Given the description of an element on the screen output the (x, y) to click on. 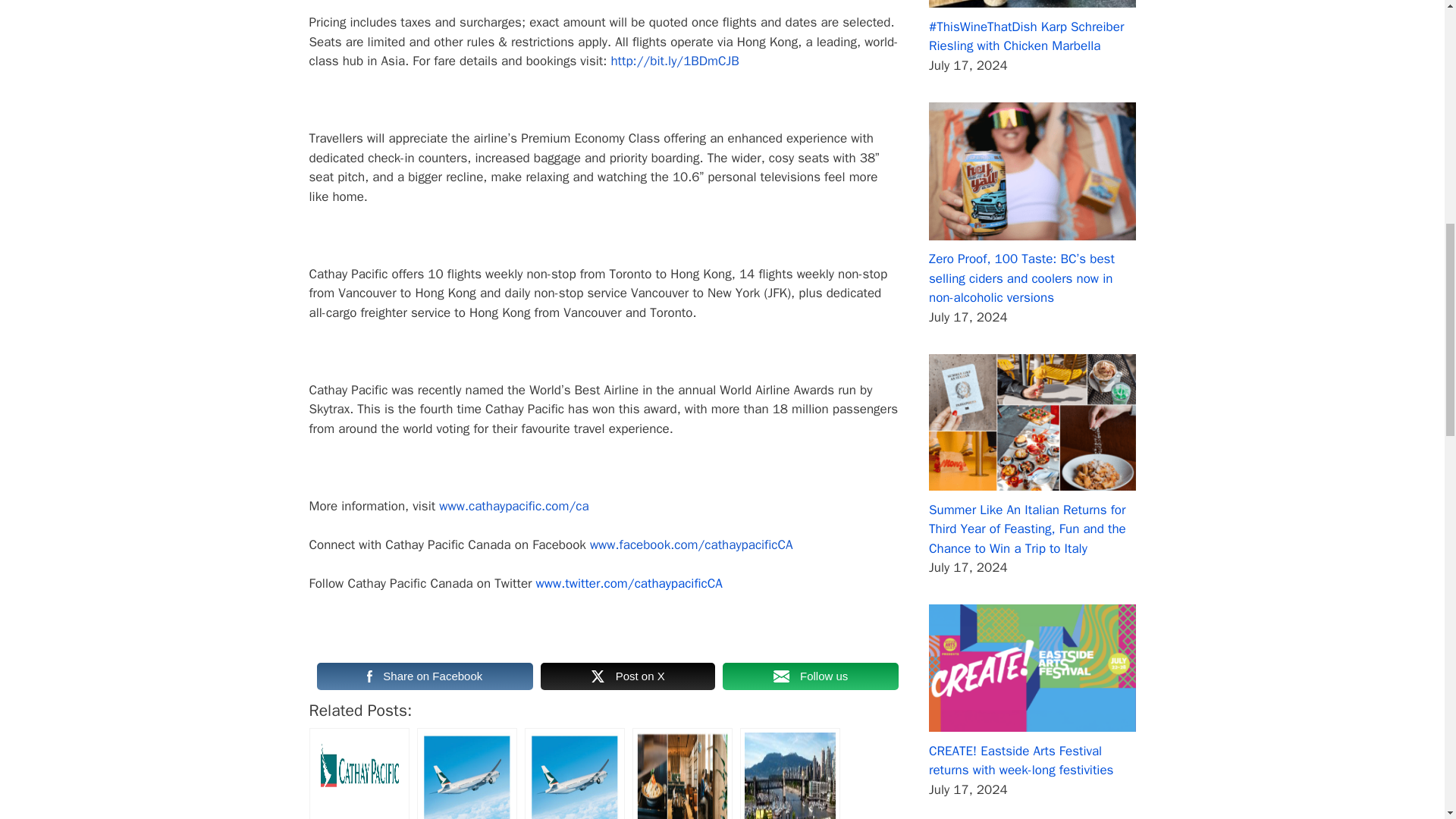
CATHAY PACIFIC ANNOUNCES SEAT SALE (574, 773)
Share on Facebook (424, 676)
TRAVEL DOWN UNDER WITH CATHAY PACIFIC AIRWAYS  (466, 773)
Follow us (810, 676)
Post on X (627, 676)
CATHAY PACIFIC ANNOUNCES SEAT SALE (574, 773)
